Given the description of an element on the screen output the (x, y) to click on. 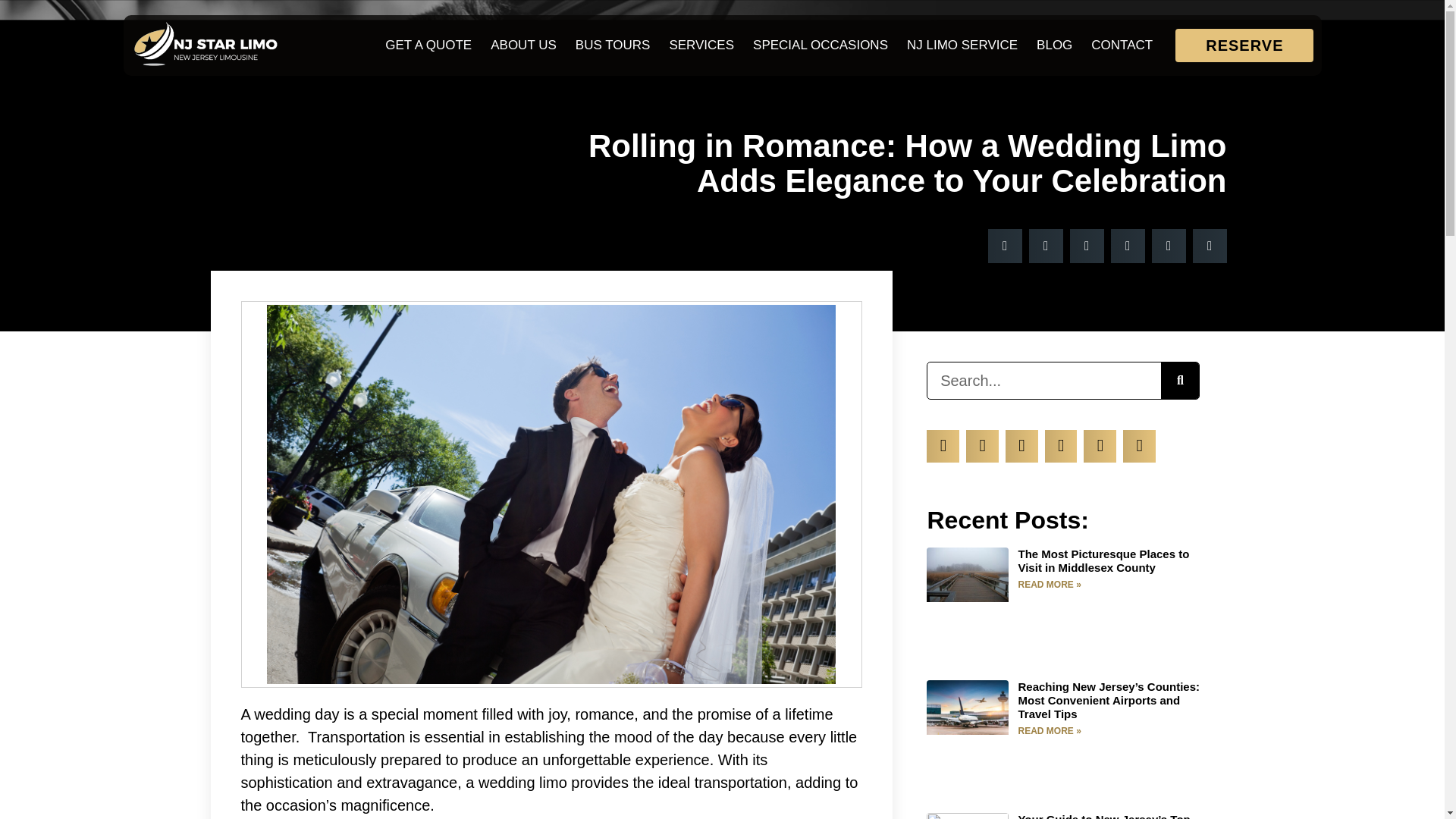
BUS TOURS (612, 45)
ABOUT US (523, 45)
SERVICES (701, 45)
GET A QUOTE (428, 45)
